Given the description of an element on the screen output the (x, y) to click on. 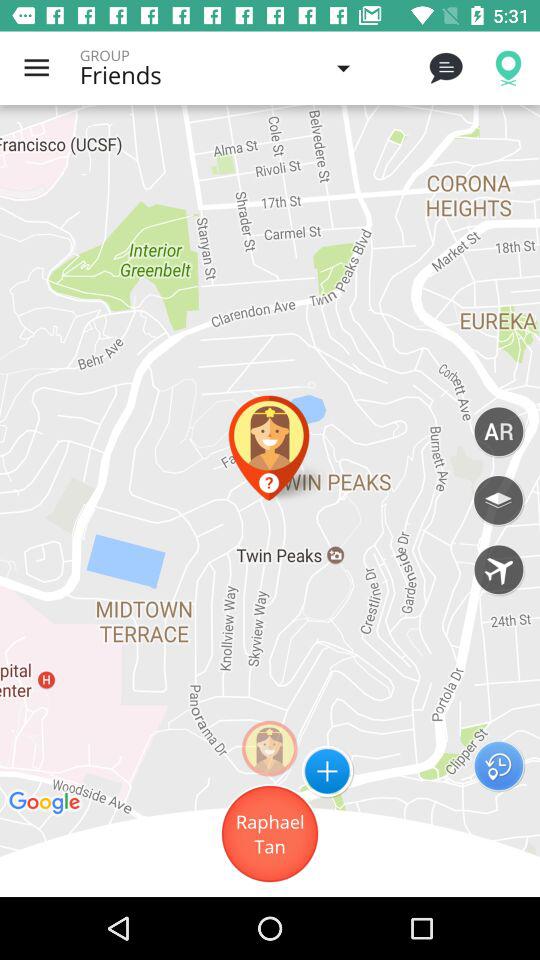
show more flights (498, 569)
